Given the description of an element on the screen output the (x, y) to click on. 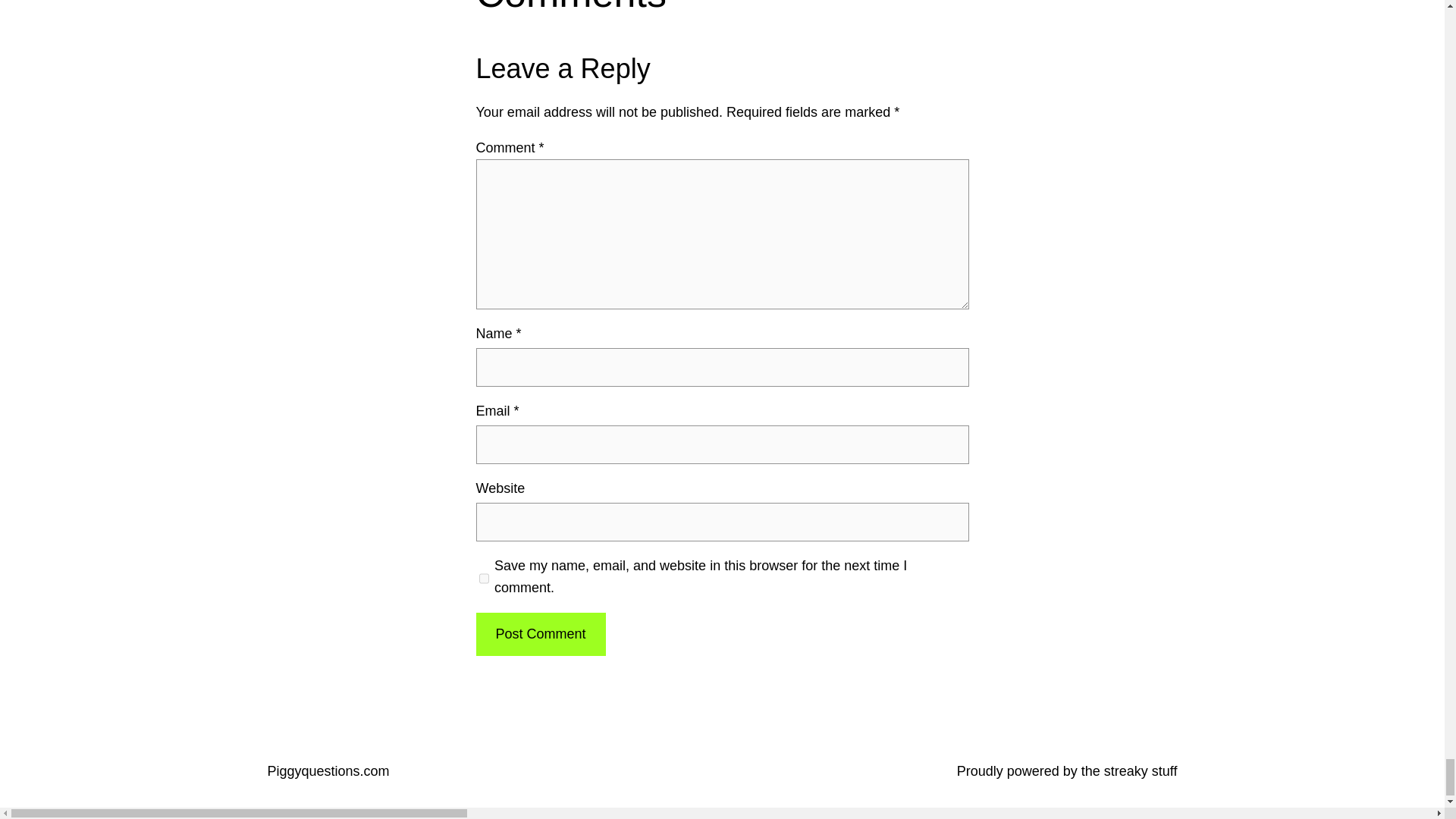
Piggyquestions.com (327, 770)
Post Comment (540, 634)
Post Comment (540, 634)
